Given the description of an element on the screen output the (x, y) to click on. 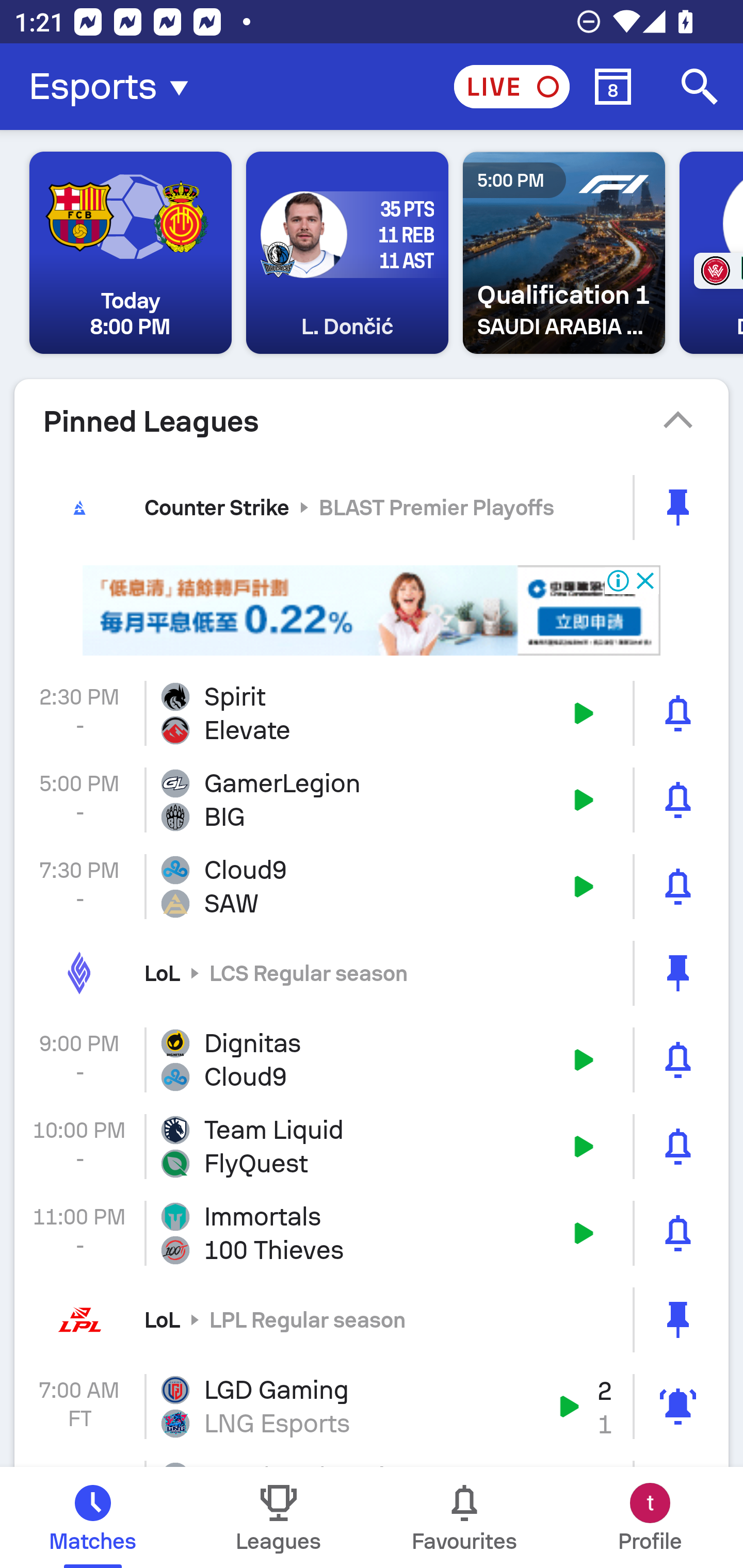
Esports (114, 86)
Calendar (612, 86)
Search (699, 86)
Today
8:00 PM (130, 253)
35 PTS
11 REB
11 AST L. Dončić (346, 253)
Pinned Leagues (371, 421)
Counter Strike BLAST Premier Playoffs (371, 507)
Advertisement (371, 610)
2:30 PM - Spirit Elevate (371, 713)
5:00 PM - GamerLegion BIG (371, 800)
7:30 PM - Cloud9 SAW (371, 886)
LoL LCS Regular season (371, 972)
9:00 PM - Dignitas Cloud9 (371, 1059)
10:00 PM - Team Liquid FlyQuest (371, 1146)
11:00 PM - Immortals 100 Thieves (371, 1233)
LoL LPL Regular season (371, 1319)
7:00 AM FT LGD Gaming LNG Esports 2 1 (371, 1406)
Leagues (278, 1517)
Favourites (464, 1517)
Profile (650, 1517)
